Given the description of an element on the screen output the (x, y) to click on. 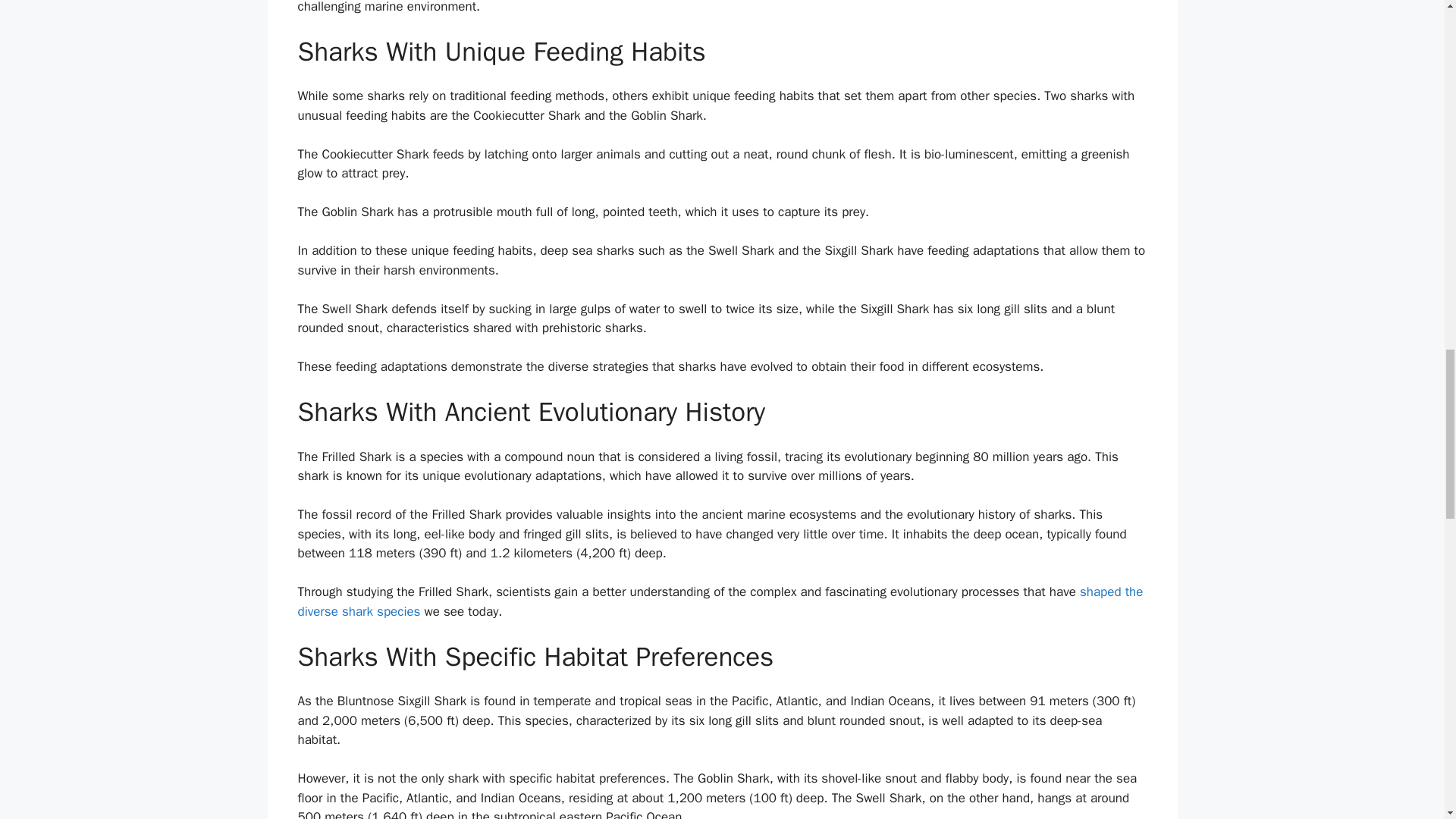
shaped the diverse shark species (719, 601)
